Given the description of an element on the screen output the (x, y) to click on. 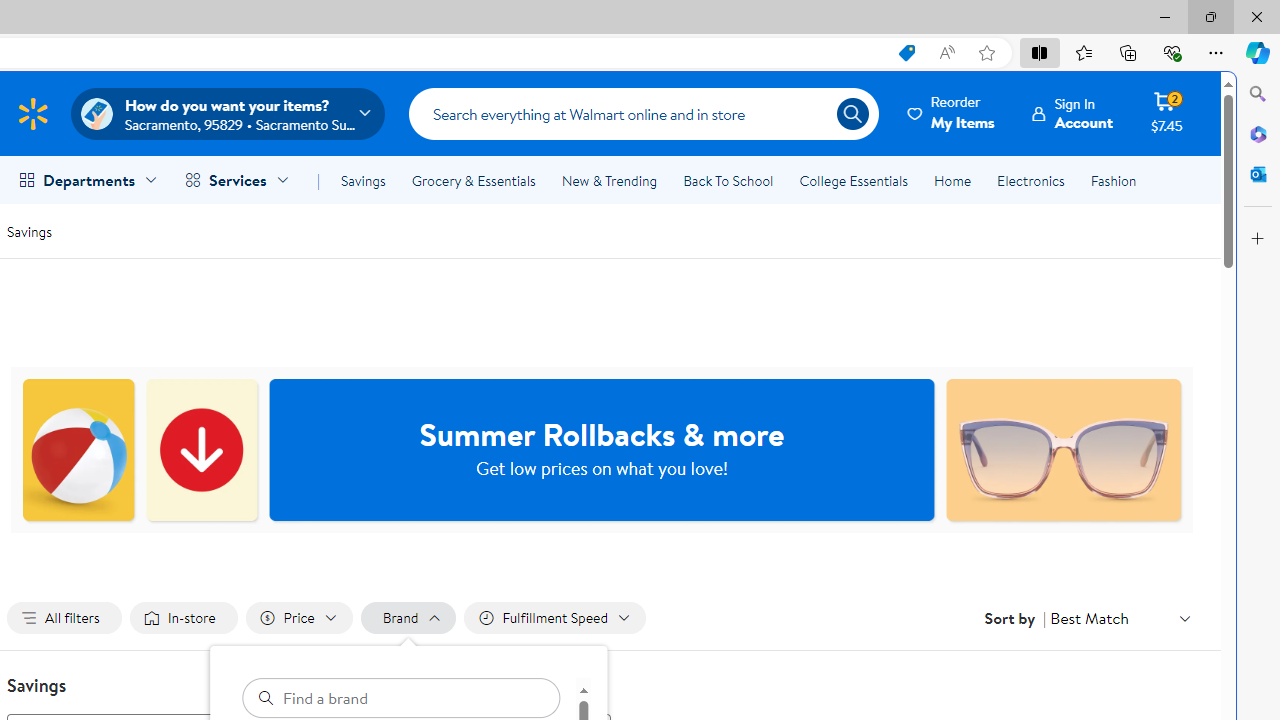
Back To School (728, 180)
ReorderMy Items (952, 113)
Sort by Best Match (1120, 618)
Close Search pane (1258, 94)
Search icon (852, 113)
All filters none applied, activate to change (63, 618)
Fashion (1113, 180)
Filter by Brand not applied, activate to change (407, 618)
